Given the description of an element on the screen output the (x, y) to click on. 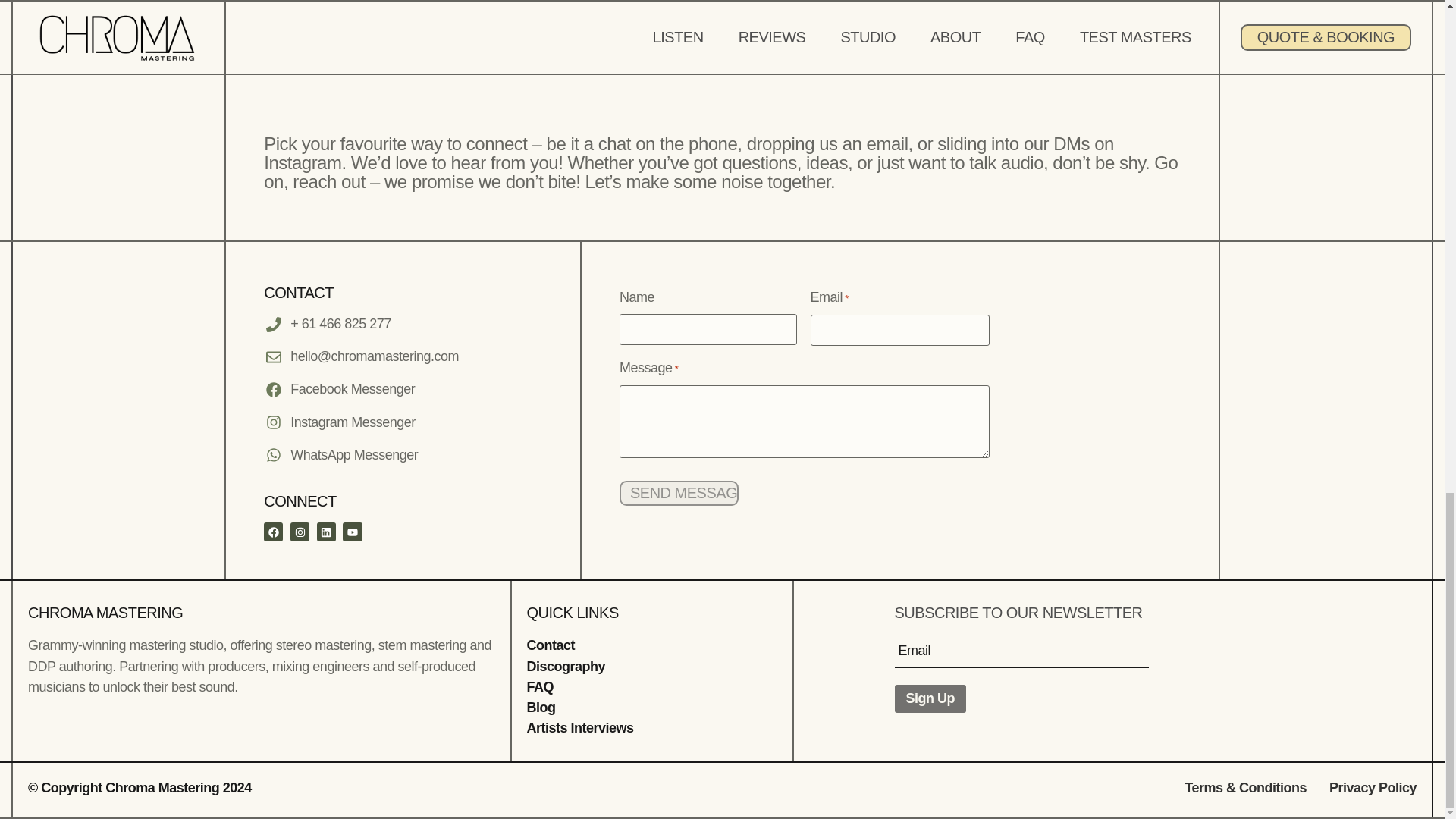
Sign Up (930, 697)
Send Message (679, 493)
